Given the description of an element on the screen output the (x, y) to click on. 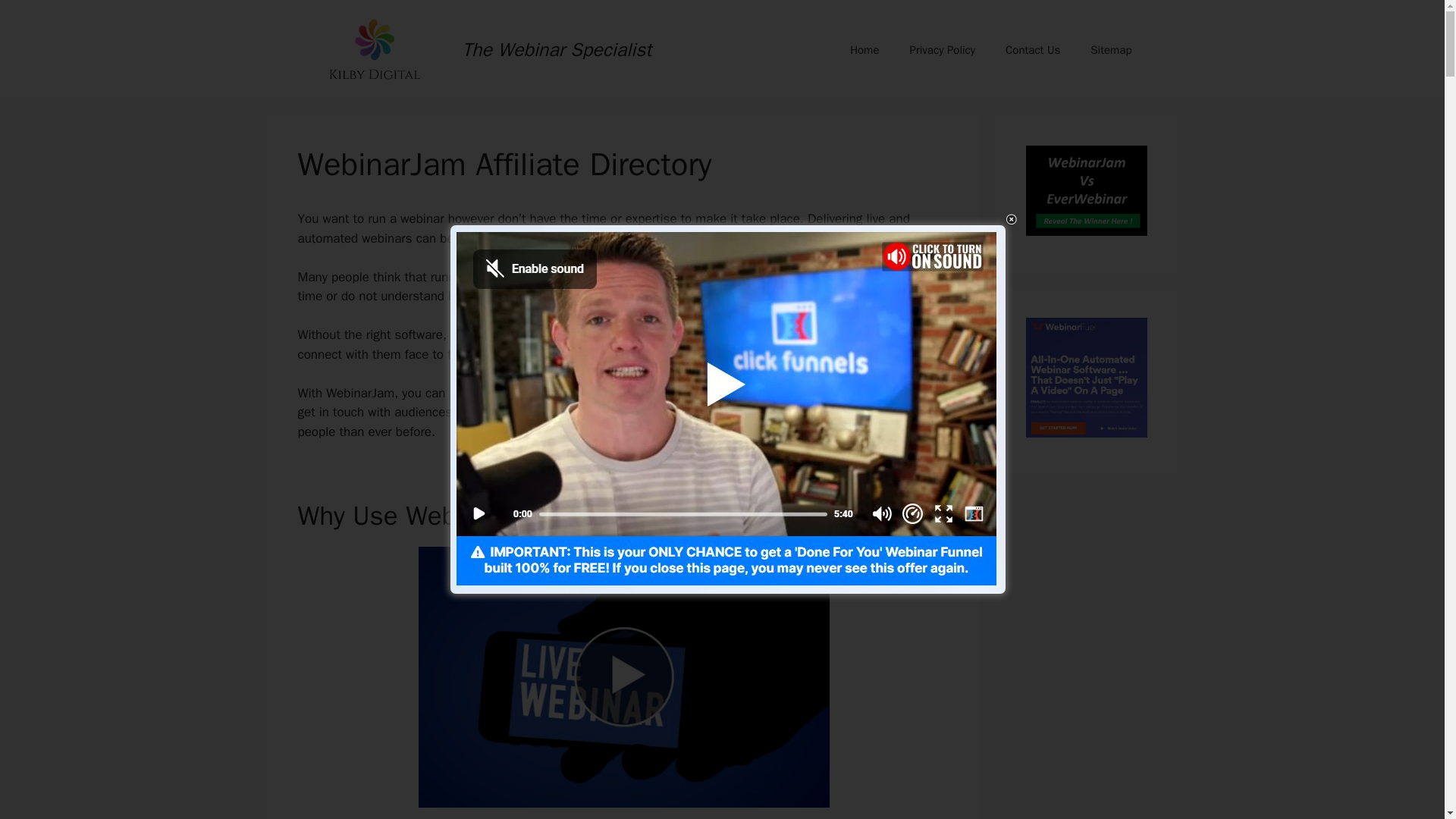
Contact Us (1032, 49)
The Webinar Specialist (557, 49)
Home (863, 49)
Privacy Policy (941, 49)
Sitemap (1111, 49)
